Given the description of an element on the screen output the (x, y) to click on. 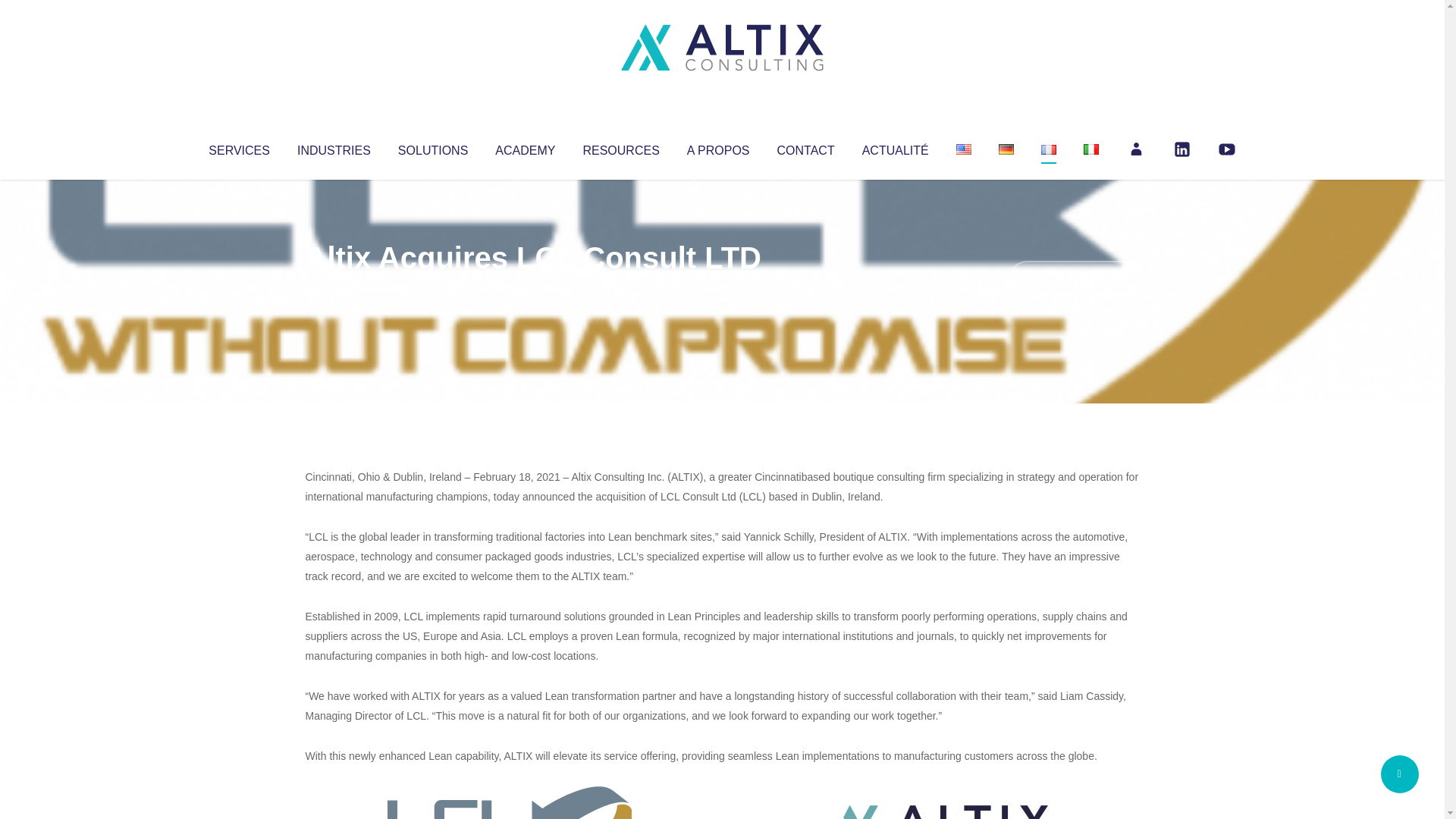
Uncategorized (530, 287)
A PROPOS (718, 146)
ACADEMY (524, 146)
No Comments (1073, 278)
SERVICES (238, 146)
RESOURCES (620, 146)
Articles par Altix (333, 287)
INDUSTRIES (334, 146)
Altix (333, 287)
SOLUTIONS (432, 146)
